Given the description of an element on the screen output the (x, y) to click on. 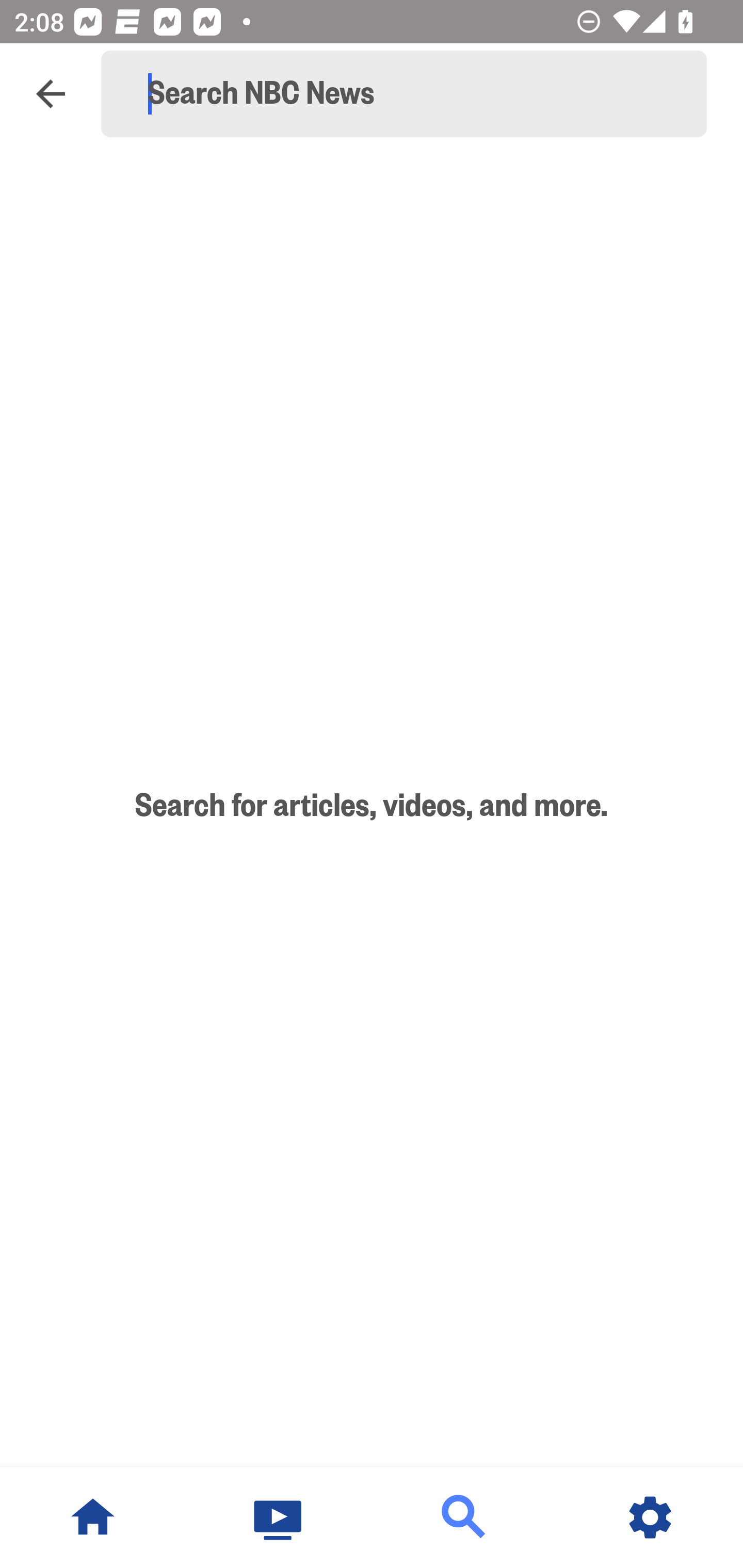
Navigate up (50, 93)
Search NBC News (412, 94)
NBC News Home (92, 1517)
Watch (278, 1517)
Settings (650, 1517)
